Given the description of an element on the screen output the (x, y) to click on. 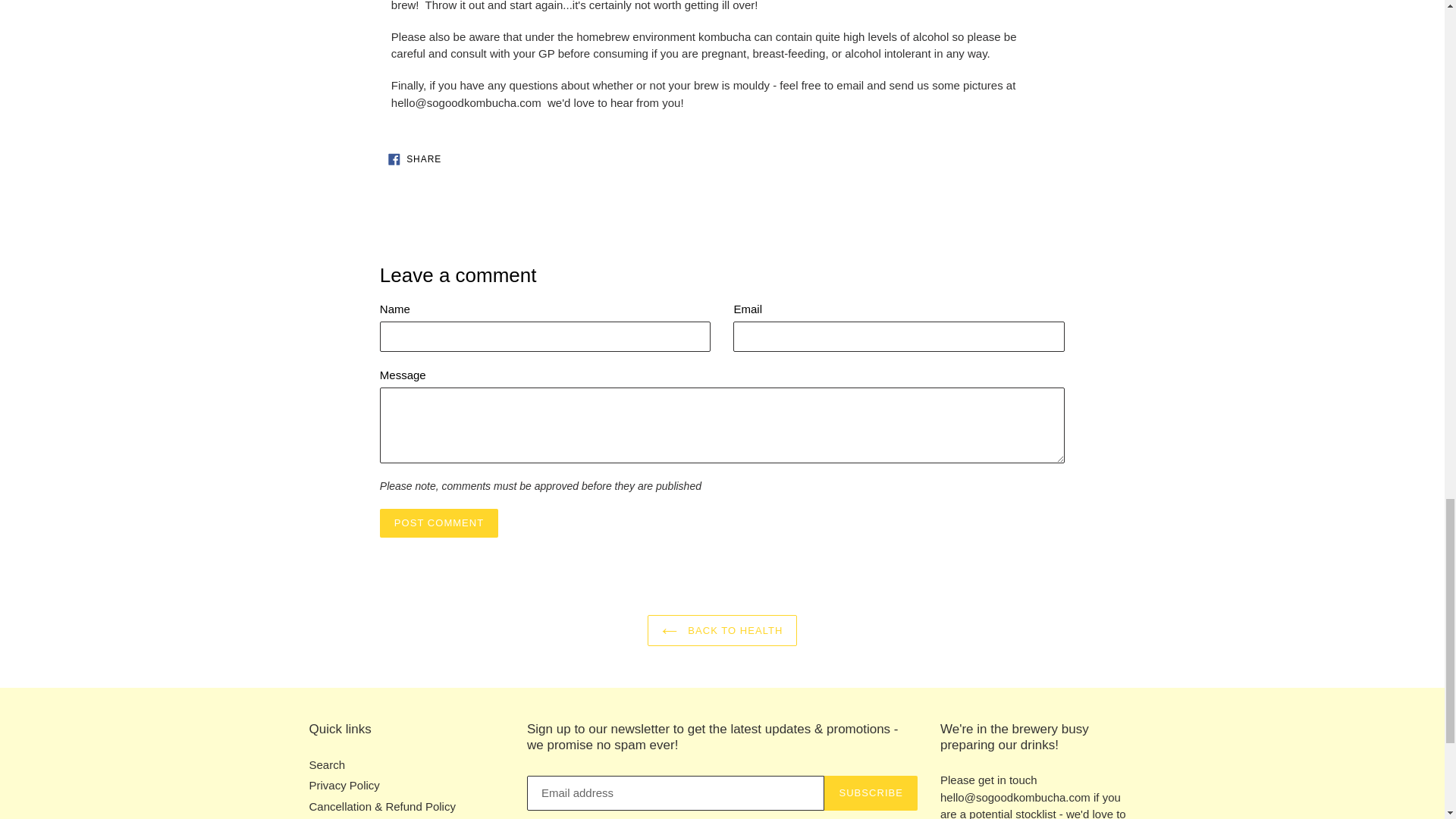
Post comment (438, 522)
Search (414, 158)
Post comment (327, 764)
BACK TO HEALTH (438, 522)
Privacy Policy (722, 631)
